Given the description of an element on the screen output the (x, y) to click on. 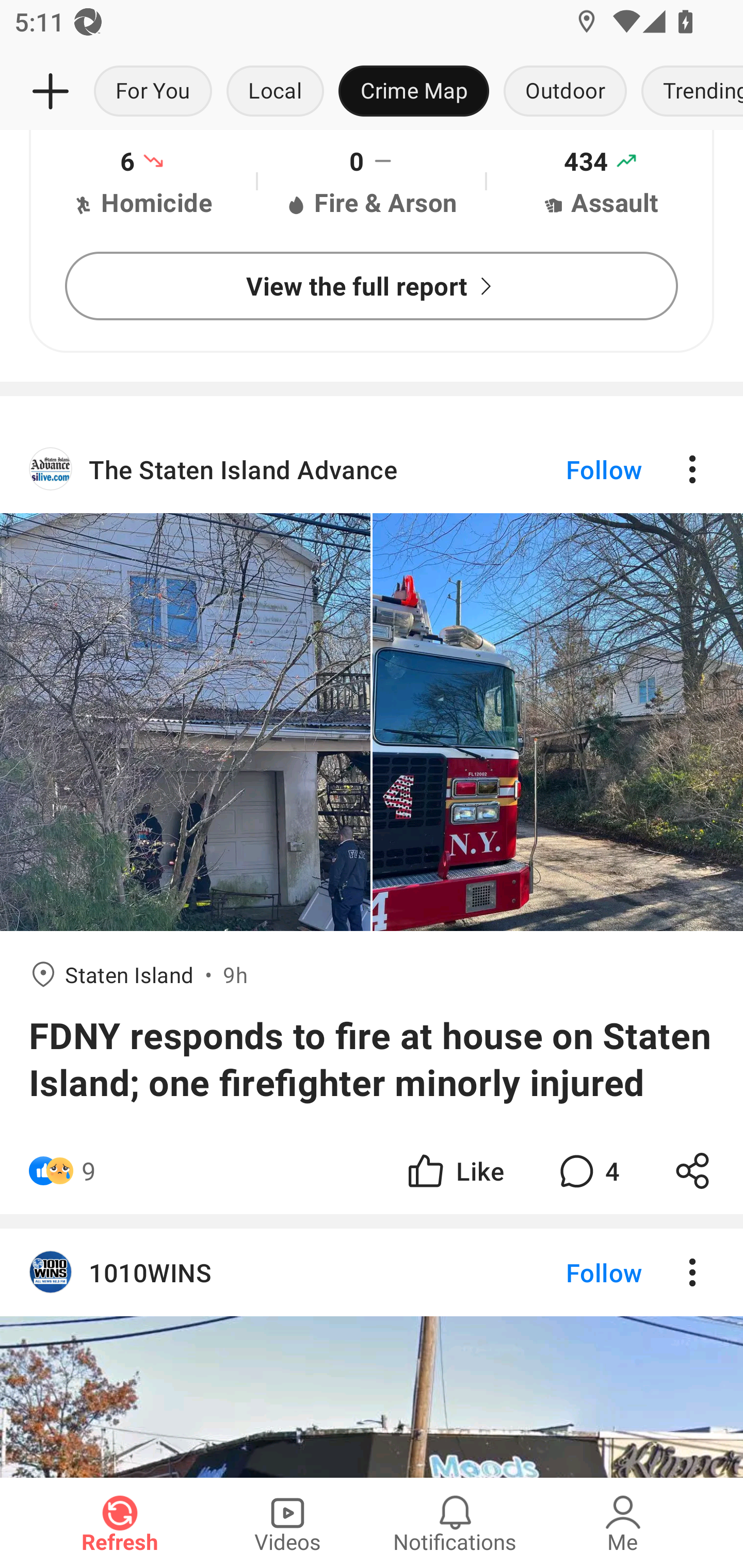
For You (152, 91)
Local (275, 91)
Crime Map (413, 91)
Outdoor (564, 91)
View the full report (371, 285)
The Staten Island Advance Follow (371, 468)
Follow (569, 468)
9 (88, 1170)
Like (454, 1170)
4 (587, 1170)
1010WINS Follow (371, 1272)
Follow (569, 1272)
Videos (287, 1522)
Notifications (455, 1522)
Me (622, 1522)
